Given the description of an element on the screen output the (x, y) to click on. 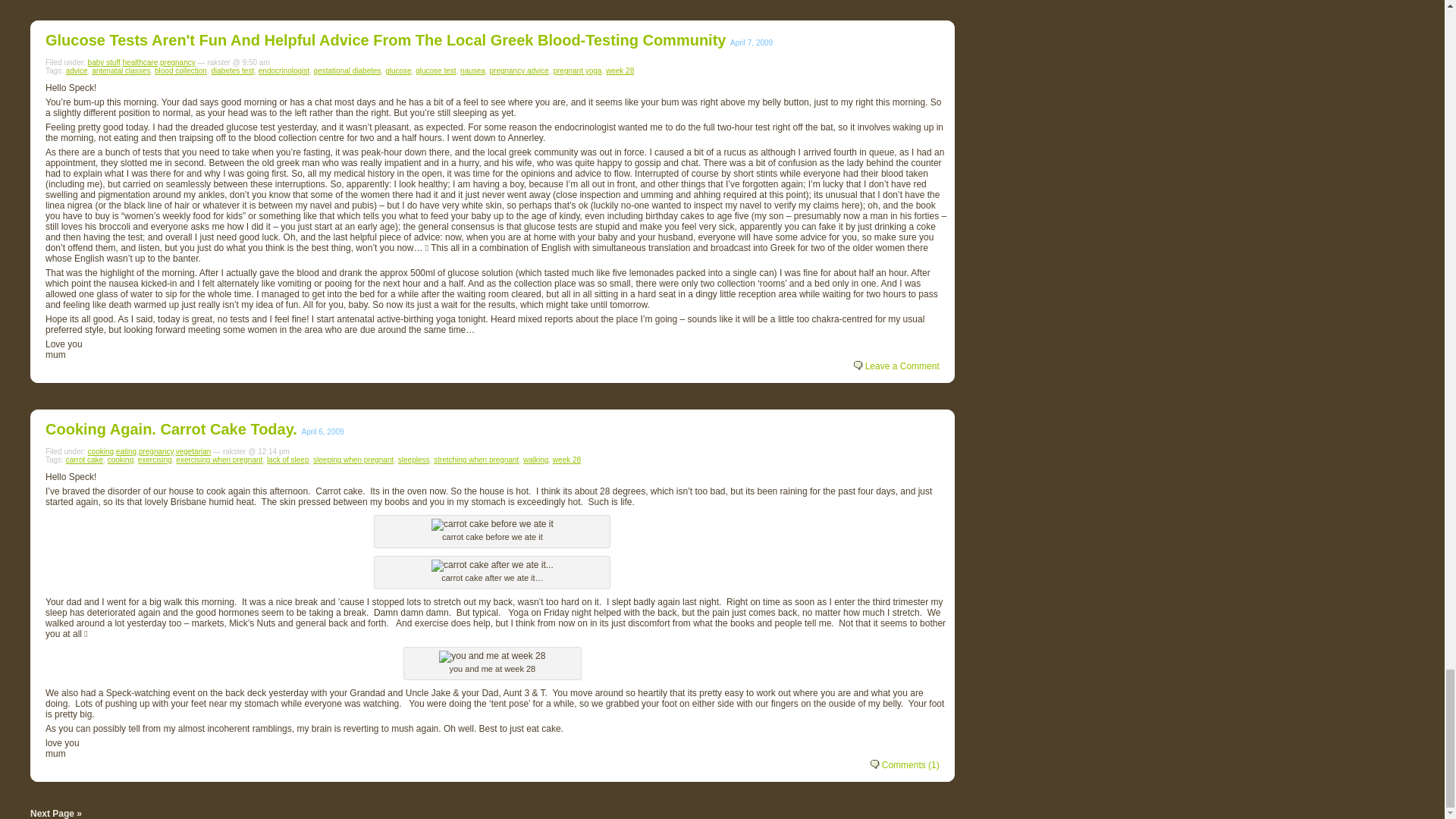
carrot cake after we ate it... (491, 565)
Permalink to cooking again.  Carrot cake today. (171, 428)
